Given the description of an element on the screen output the (x, y) to click on. 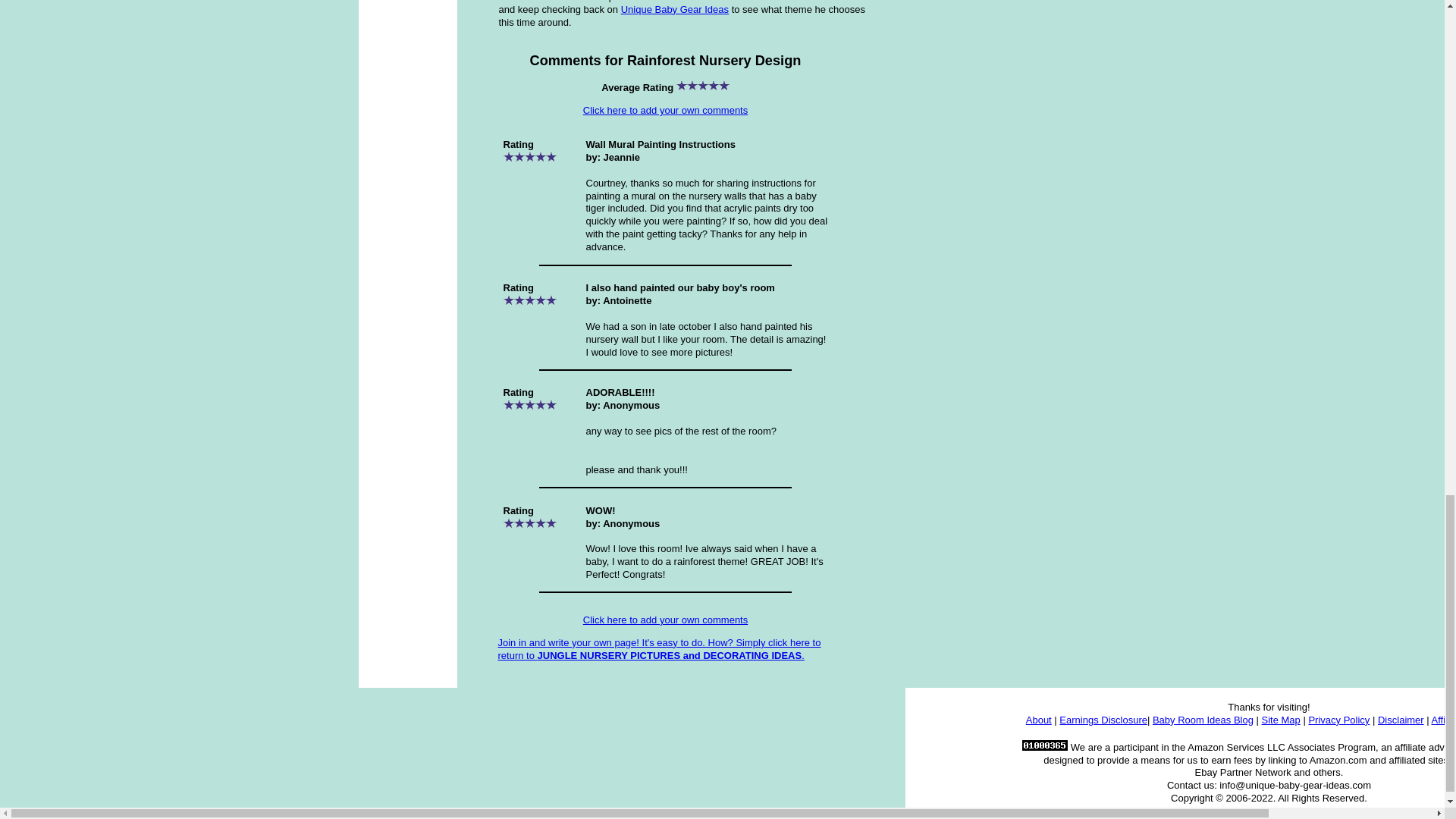
Click here to add your own comments (665, 110)
Unique Baby Gear Ideas (675, 9)
Click here to add your own comments (665, 619)
